Given the description of an element on the screen output the (x, y) to click on. 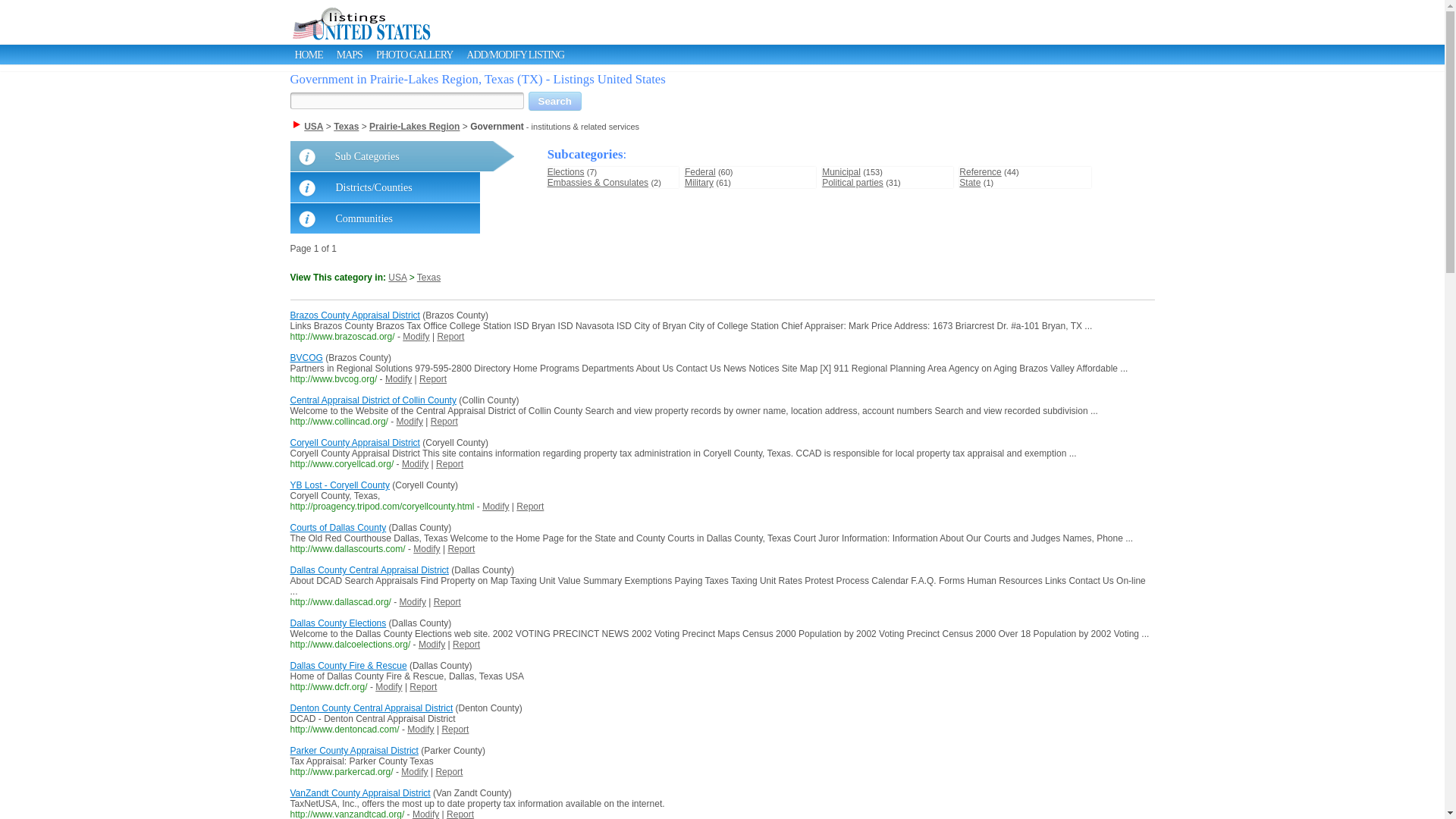
Municipal (841, 172)
Home (307, 54)
Texas (345, 126)
Communities (384, 218)
PHOTO GALLERY (413, 54)
Military (698, 182)
Elections (566, 172)
Search (553, 100)
Political parties (852, 182)
MAPS (349, 54)
HOME (307, 54)
Federal (700, 172)
Sub Categories (401, 155)
State (969, 182)
Reference (980, 172)
